Given the description of an element on the screen output the (x, y) to click on. 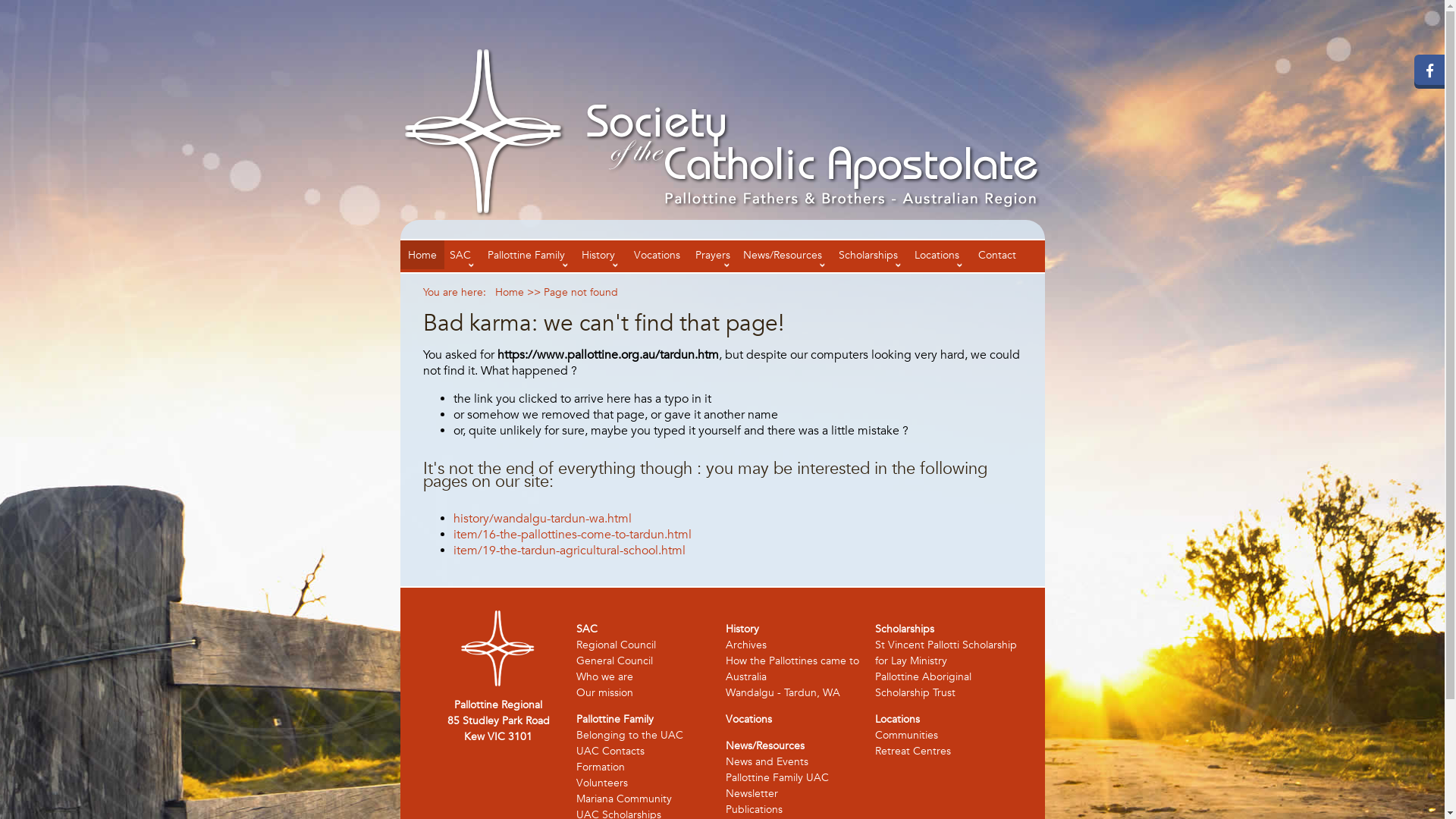
Home Element type: text (508, 291)
Volunteers Element type: text (601, 782)
Publications Element type: text (752, 808)
Home Element type: text (422, 254)
Wandalgu - Tardun, WA Element type: text (781, 692)
News and Events Element type: text (765, 761)
Regional Council Element type: text (615, 644)
Our mission Element type: text (604, 692)
Contact Element type: text (996, 254)
St Vincent Pallotti Scholarship for Lay Ministry Element type: text (945, 652)
Retreat Centres Element type: text (912, 750)
Belonging to the UAC Element type: text (629, 734)
UAC Contacts Element type: text (610, 750)
Prayers
>open Element type: text (712, 254)
Archives Element type: text (744, 644)
Who we are Element type: text (604, 676)
item/19-the-tardun-agricultural-school.html Element type: text (569, 550)
Mariana Community Element type: text (623, 798)
Vocations Element type: text (656, 254)
How the Pallottines came to Australia Element type: text (791, 668)
Pallottine Aboriginal Scholarship Trust Element type: text (923, 684)
Pallottine Family UAC Newsletter Element type: text (776, 785)
history/wandalgu-tardun-wa.html Element type: text (542, 518)
General Council Element type: text (614, 660)
Formation Element type: text (600, 766)
item/16-the-pallottines-come-to-tardun.html Element type: text (572, 534)
Communities Element type: text (906, 734)
